Given the description of an element on the screen output the (x, y) to click on. 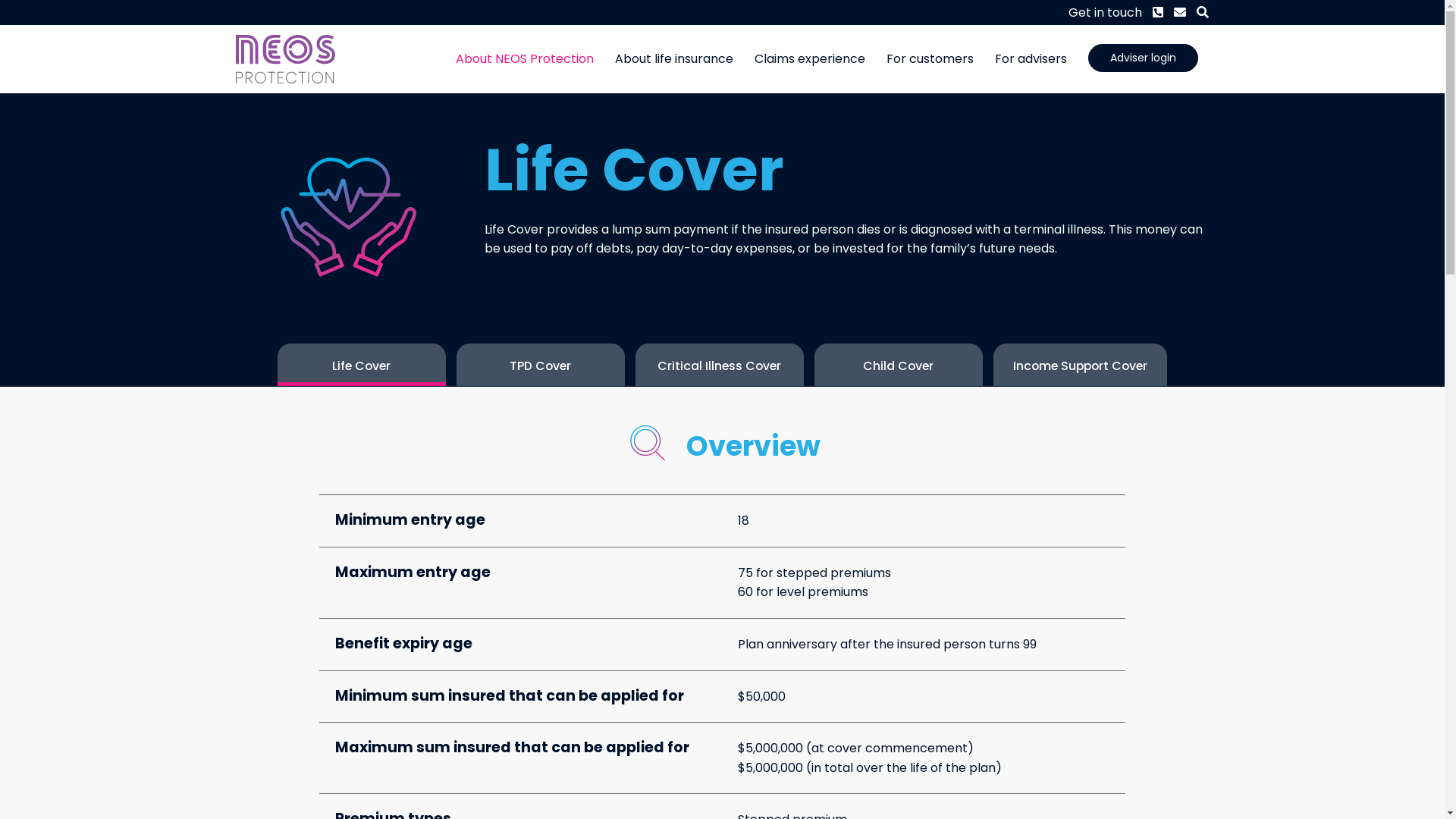
Envelope Element type: text (1174, 12)
About life insurance Element type: text (673, 58)
Phone Element type: text (1152, 12)
Get in touch Element type: text (1105, 12)
Claims experience Element type: text (809, 58)
Critical Illness Cover Element type: text (719, 364)
For advisers Element type: text (1030, 58)
Child Cover Element type: text (898, 364)
About NEOS Protection Element type: text (524, 58)
Life Cover Element type: text (361, 364)
For customers Element type: text (929, 58)
Search Element type: text (1197, 12)
Adviser login Element type: text (1142, 57)
Income Support Cover Element type: text (1080, 364)
TPD Cover Element type: text (540, 364)
